Given the description of an element on the screen output the (x, y) to click on. 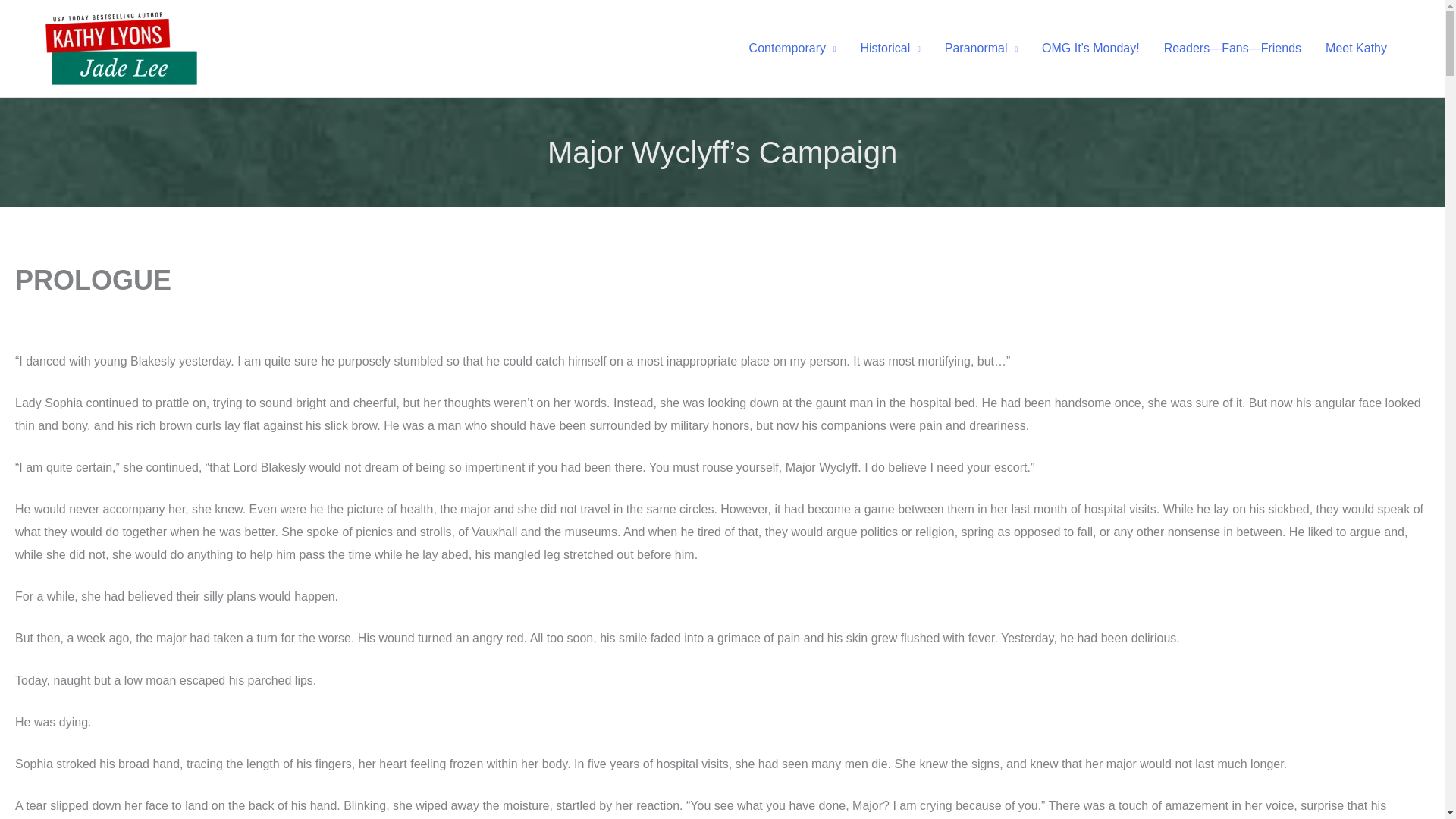
Historical (889, 48)
Contemporary (792, 48)
Paranormal (981, 48)
Meet Kathy (1356, 48)
